Given the description of an element on the screen output the (x, y) to click on. 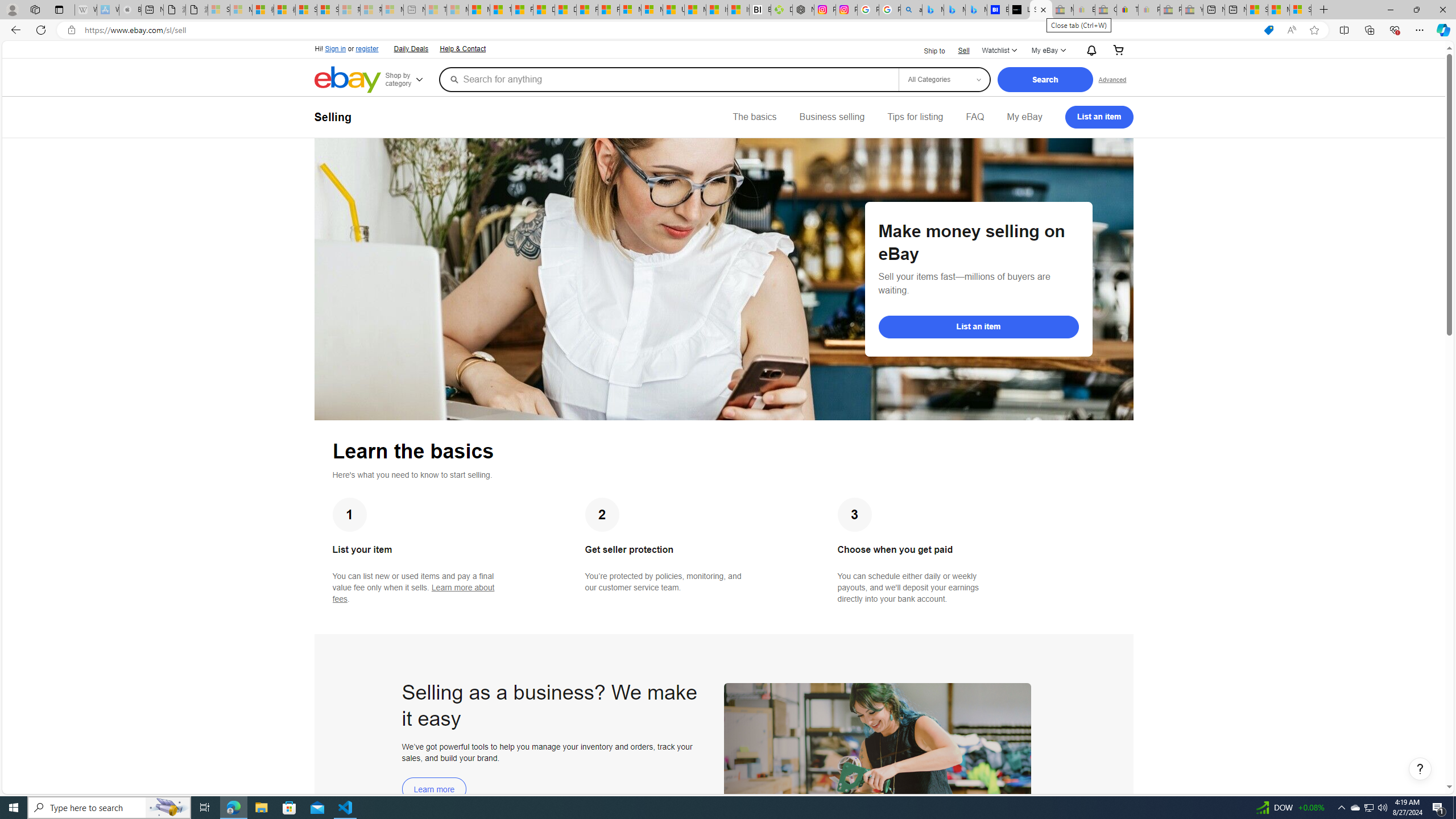
Daily Deals (410, 48)
Ship to (927, 50)
Learn more (434, 788)
Shanghai, China hourly forecast | Microsoft Weather (1256, 9)
Daily Deals (411, 49)
AutomationID: gh-eb-Alerts (1090, 49)
register (366, 49)
FAQ (974, 116)
The basics (754, 116)
